Given the description of an element on the screen output the (x, y) to click on. 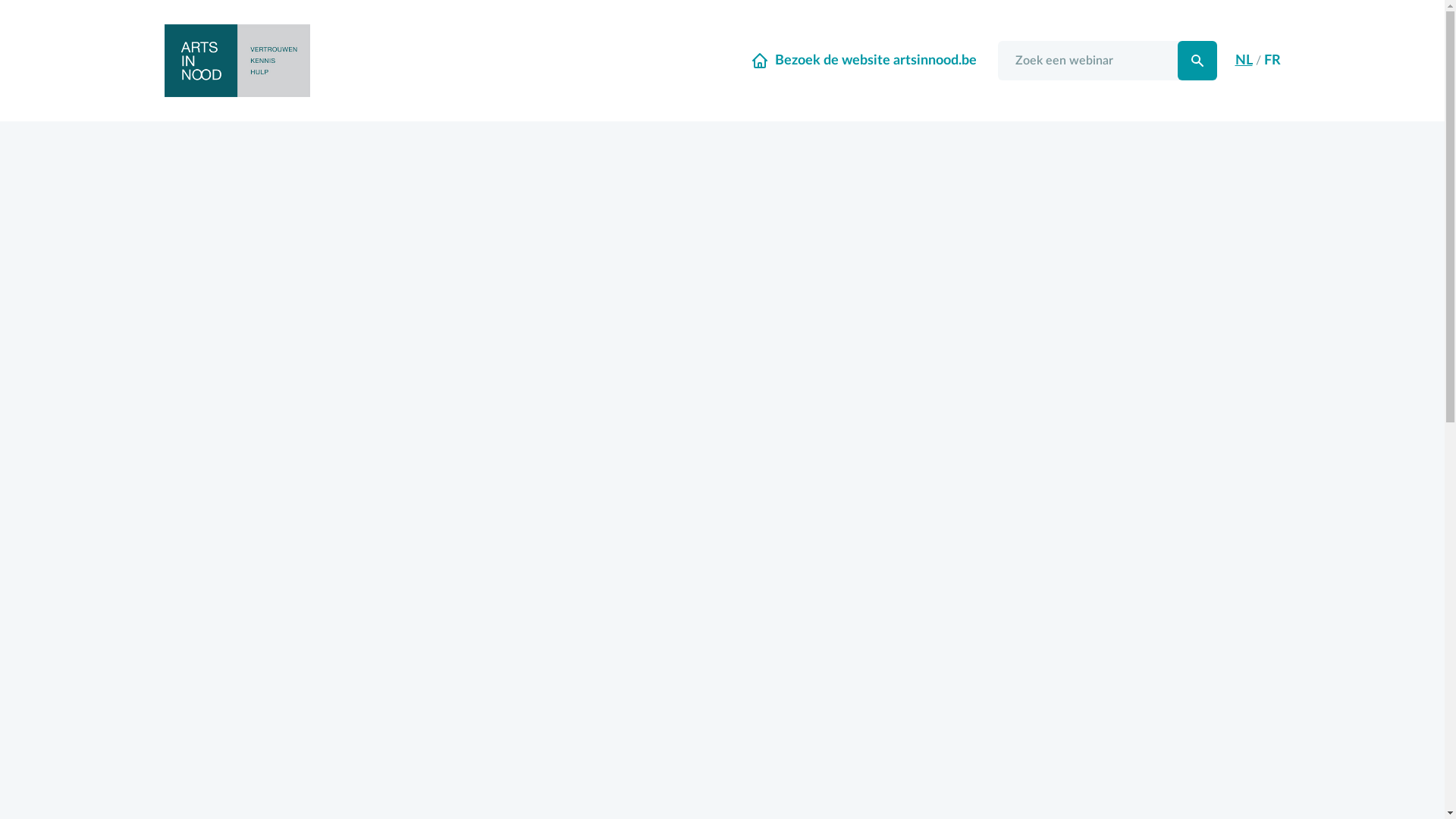
Bezoek de website artsinnood.be Element type: text (863, 60)
FR Element type: text (1271, 60)
Preventie van burn-out Element type: hover (721, 459)
NL Element type: text (1243, 60)
